Given the description of an element on the screen output the (x, y) to click on. 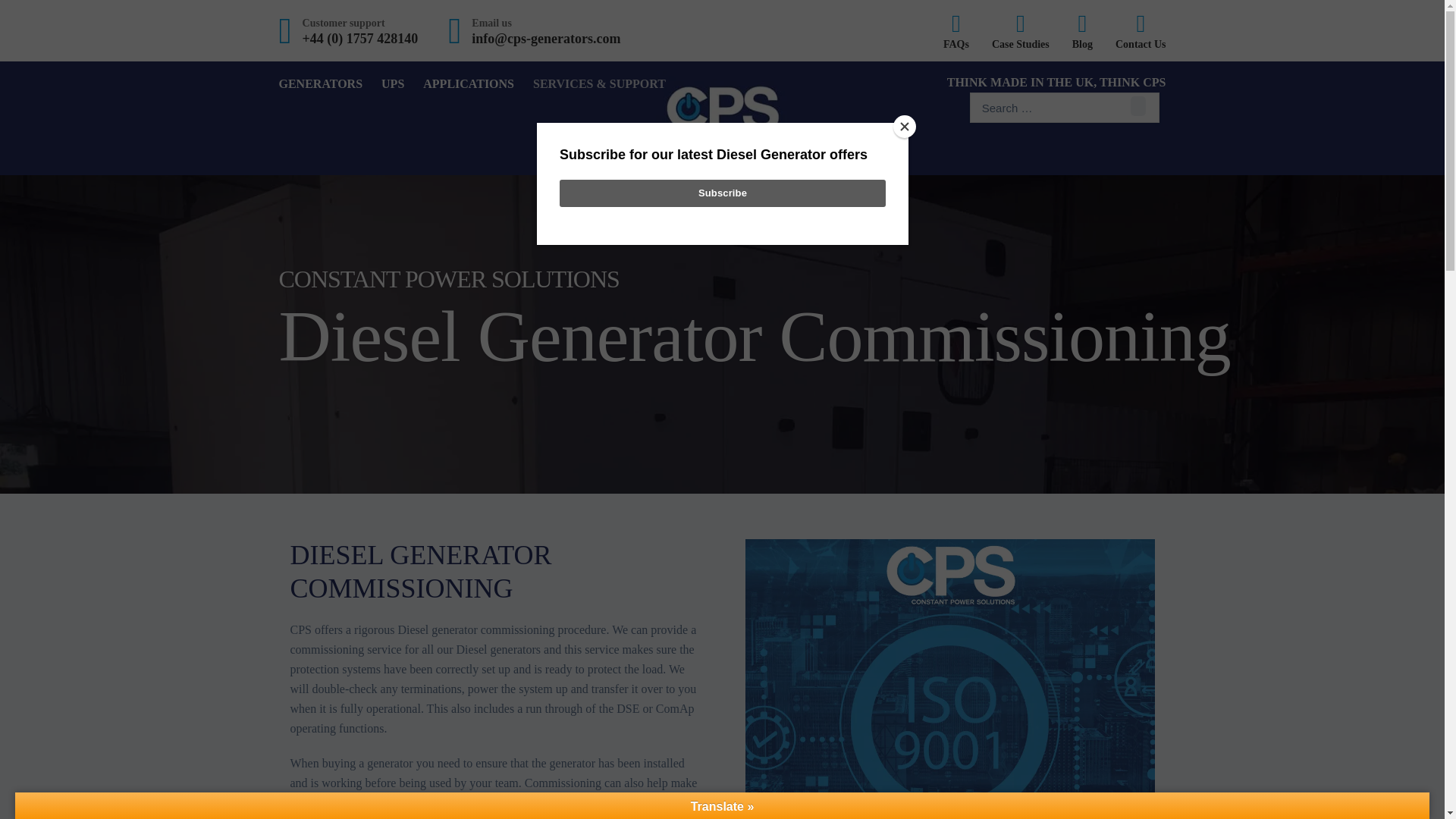
APPLICATIONS (468, 84)
ISO9001 Vision Mission Values (949, 678)
Case Studies (1020, 30)
GENERATORS (320, 84)
